Given the description of an element on the screen output the (x, y) to click on. 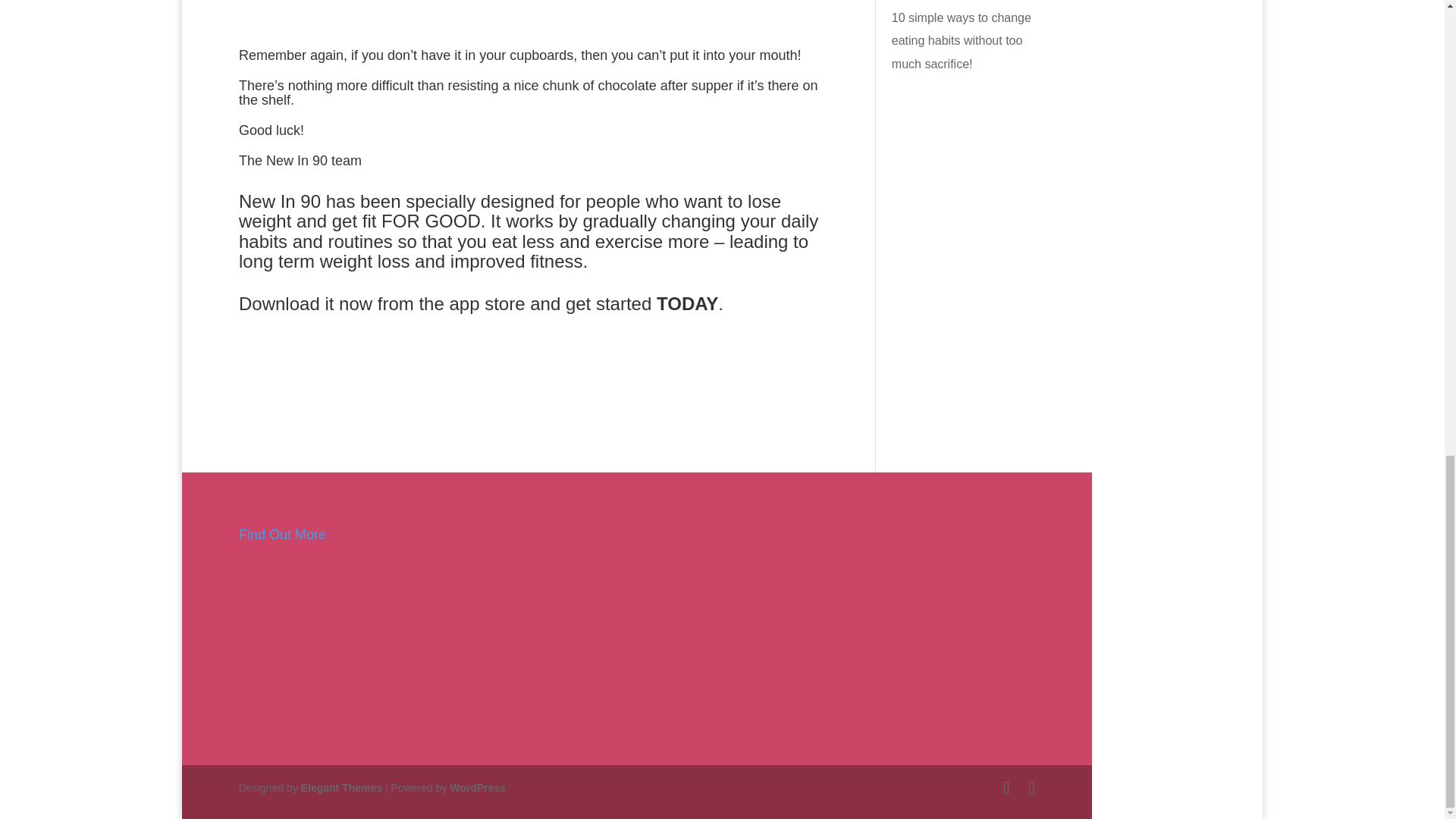
WordPress (477, 787)
Elegant Themes (341, 787)
Premium WordPress Themes (341, 787)
